Given the description of an element on the screen output the (x, y) to click on. 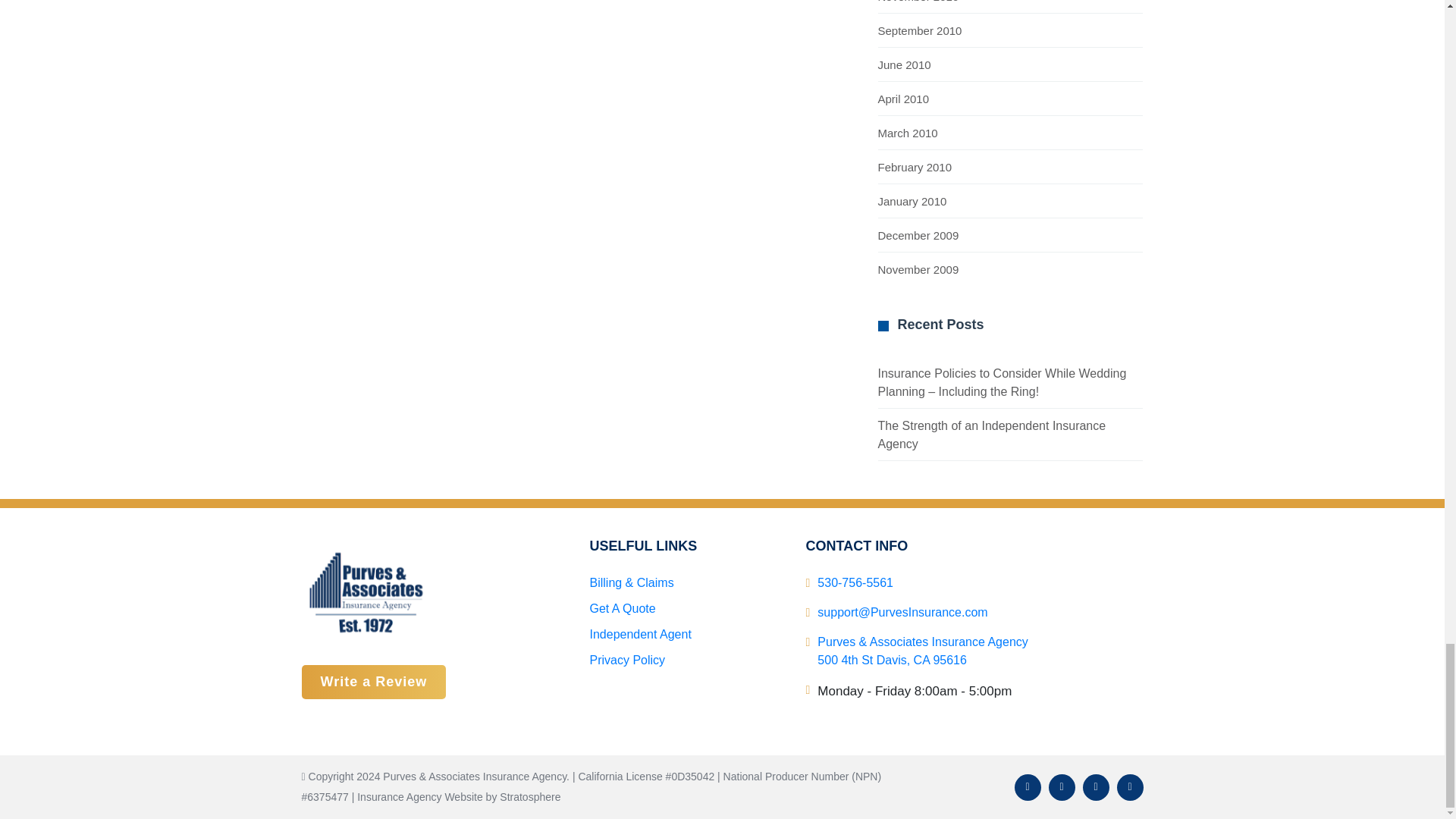
500 4th St. Davis, CA 95616 (921, 650)
Privacy Policy (627, 659)
Independent Agent (639, 634)
Twitter (1061, 786)
Linkedin (1096, 786)
Facebook (1027, 786)
Click to send Email (901, 612)
Call Now (854, 582)
Get A Quote (622, 608)
Write a Review (373, 682)
